Given the description of an element on the screen output the (x, y) to click on. 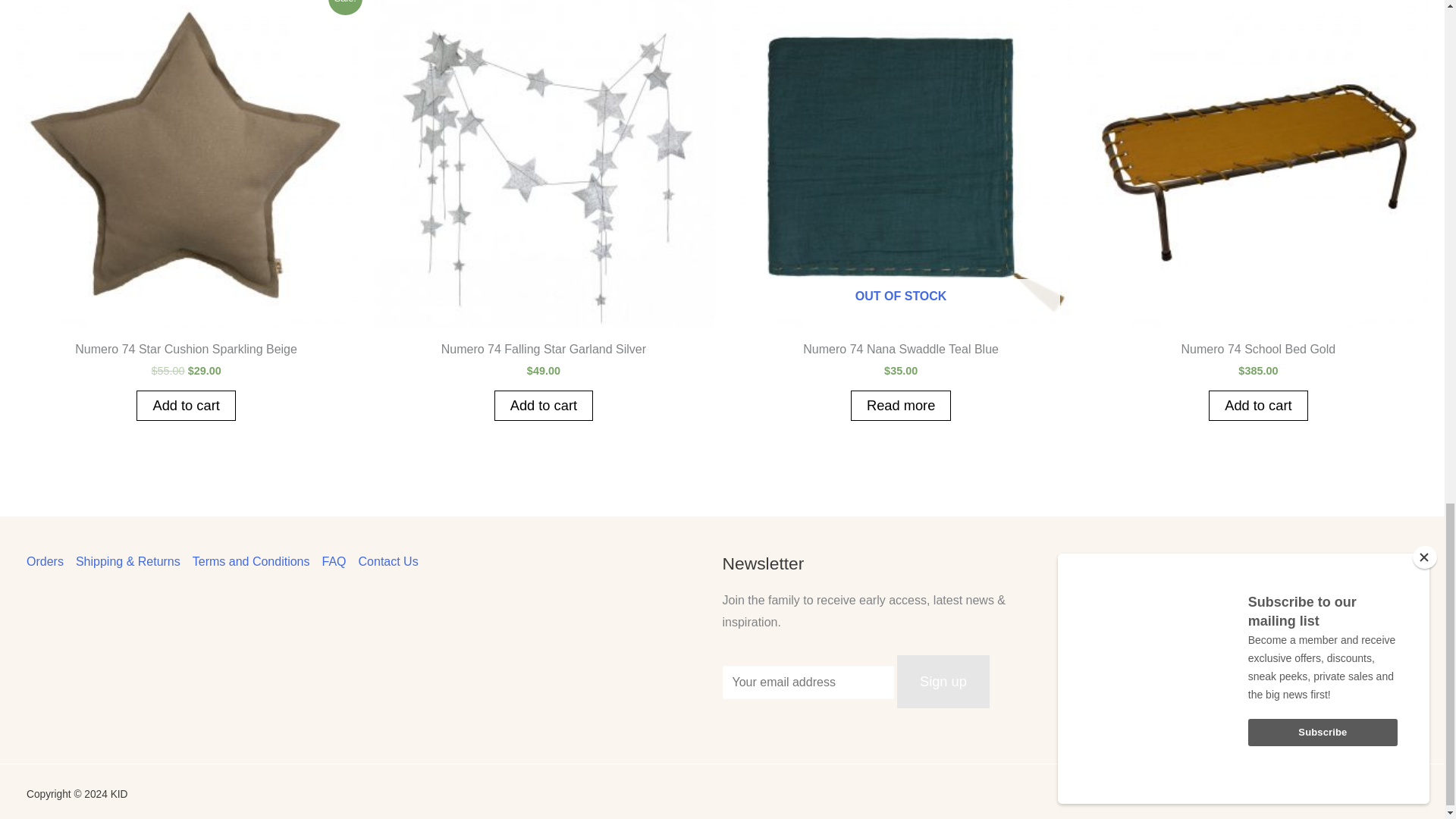
Sign up (943, 681)
